Given the description of an element on the screen output the (x, y) to click on. 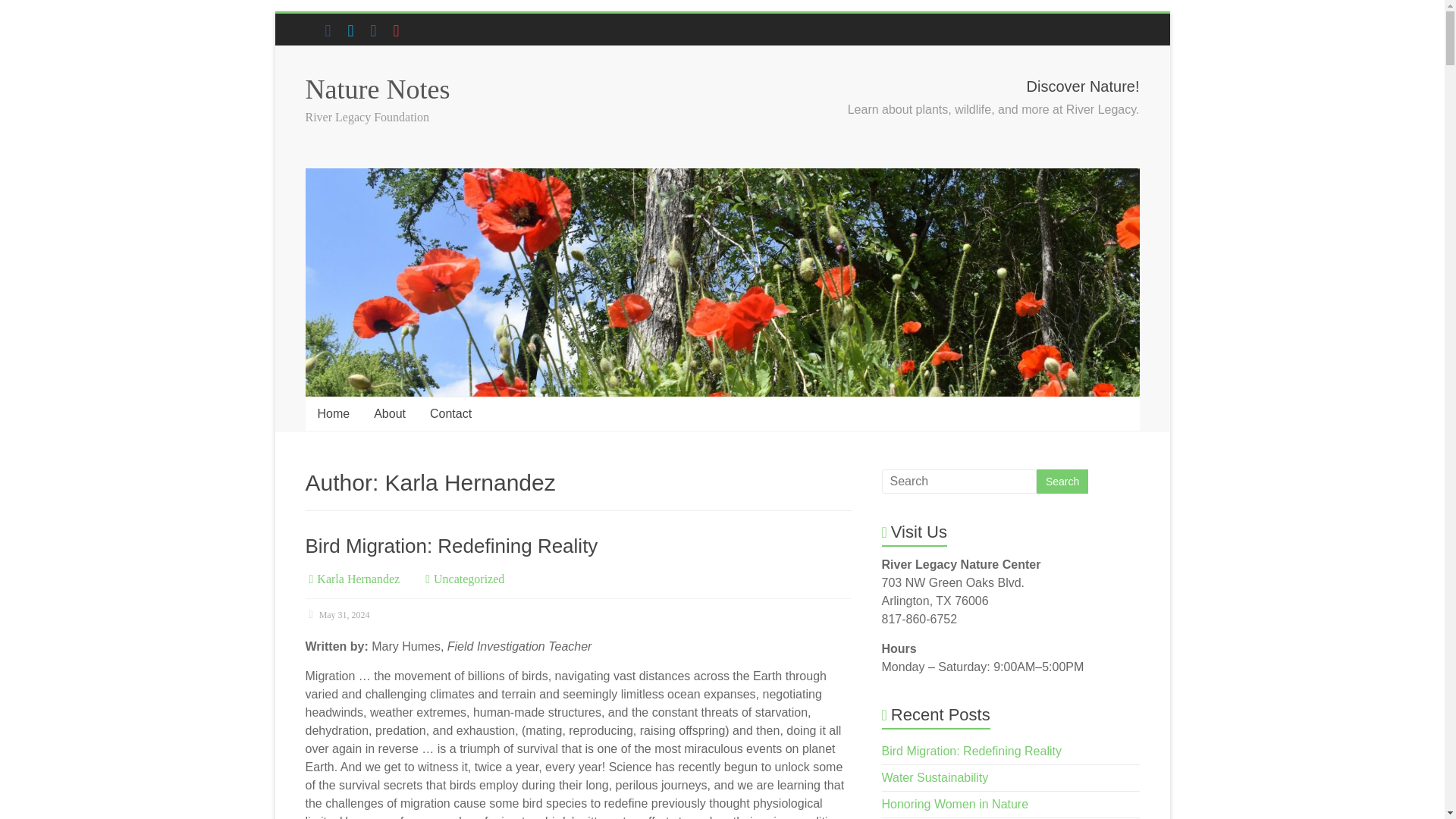
Nature Notes (376, 89)
8:37 pm (336, 614)
About (389, 413)
Karla Hernandez (357, 578)
Bird Migration: Redefining Reality (450, 545)
Home (332, 413)
May 31, 2024 (336, 614)
Uncategorized (468, 578)
Bird Migration: Redefining Reality (450, 545)
Contact (450, 413)
Search (1061, 481)
Nature Notes (376, 89)
Karla Hernandez (357, 578)
